Given the description of an element on the screen output the (x, y) to click on. 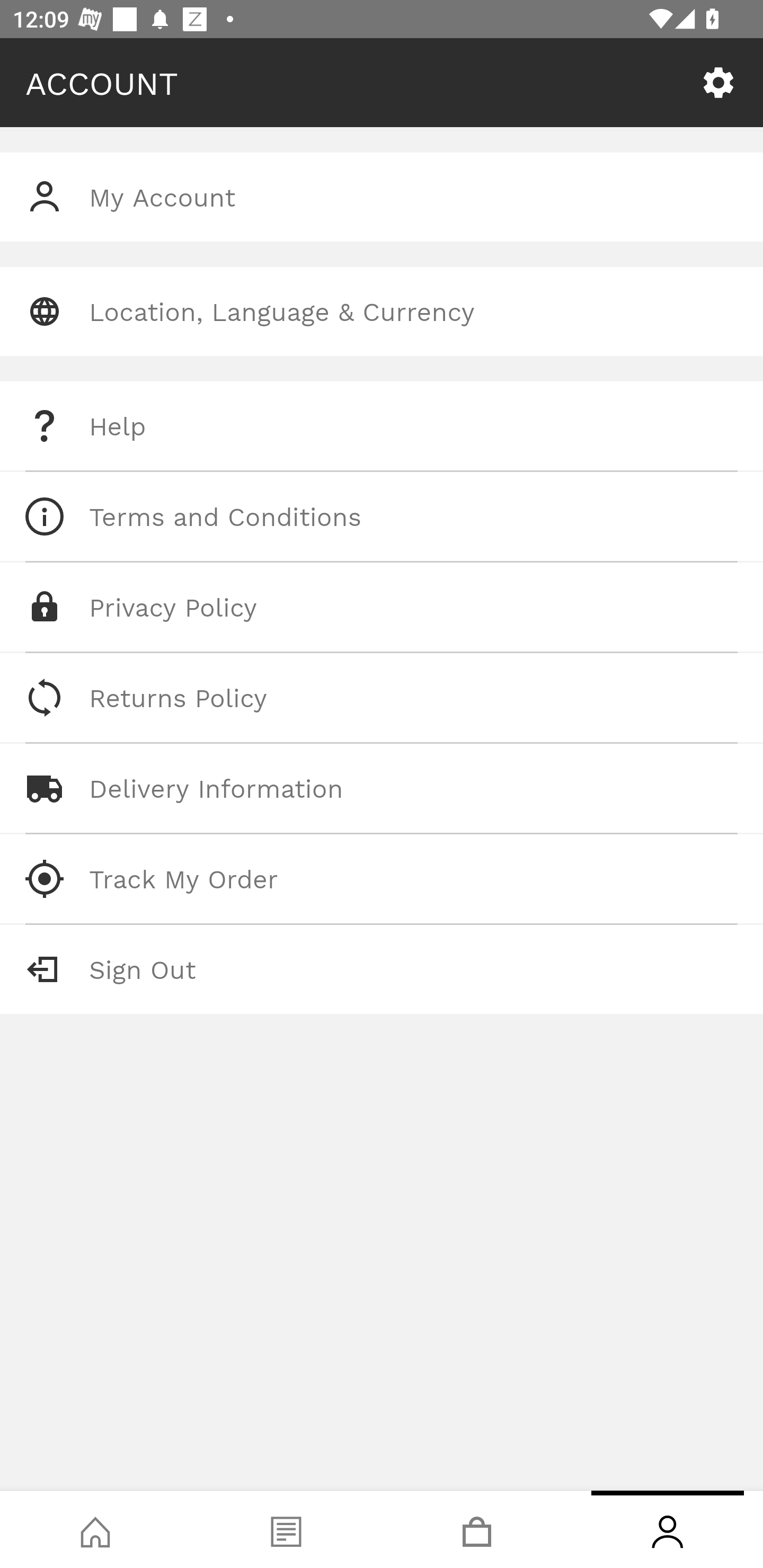
SETTINGS (718, 82)
My Account (381, 196)
Location, Language & Currency (381, 310)
Help (381, 425)
Terms and Conditions (381, 516)
Privacy Policy (381, 607)
Returns Policy (381, 697)
Delivery Information (381, 787)
Track My Order (381, 878)
Sign Out (381, 969)
Shop, tab, 1 of 4 (95, 1529)
Blog, tab, 2 of 4 (285, 1529)
Basket, tab, 3 of 4 (476, 1529)
Account, tab, 4 of 4 (667, 1529)
